Given the description of an element on the screen output the (x, y) to click on. 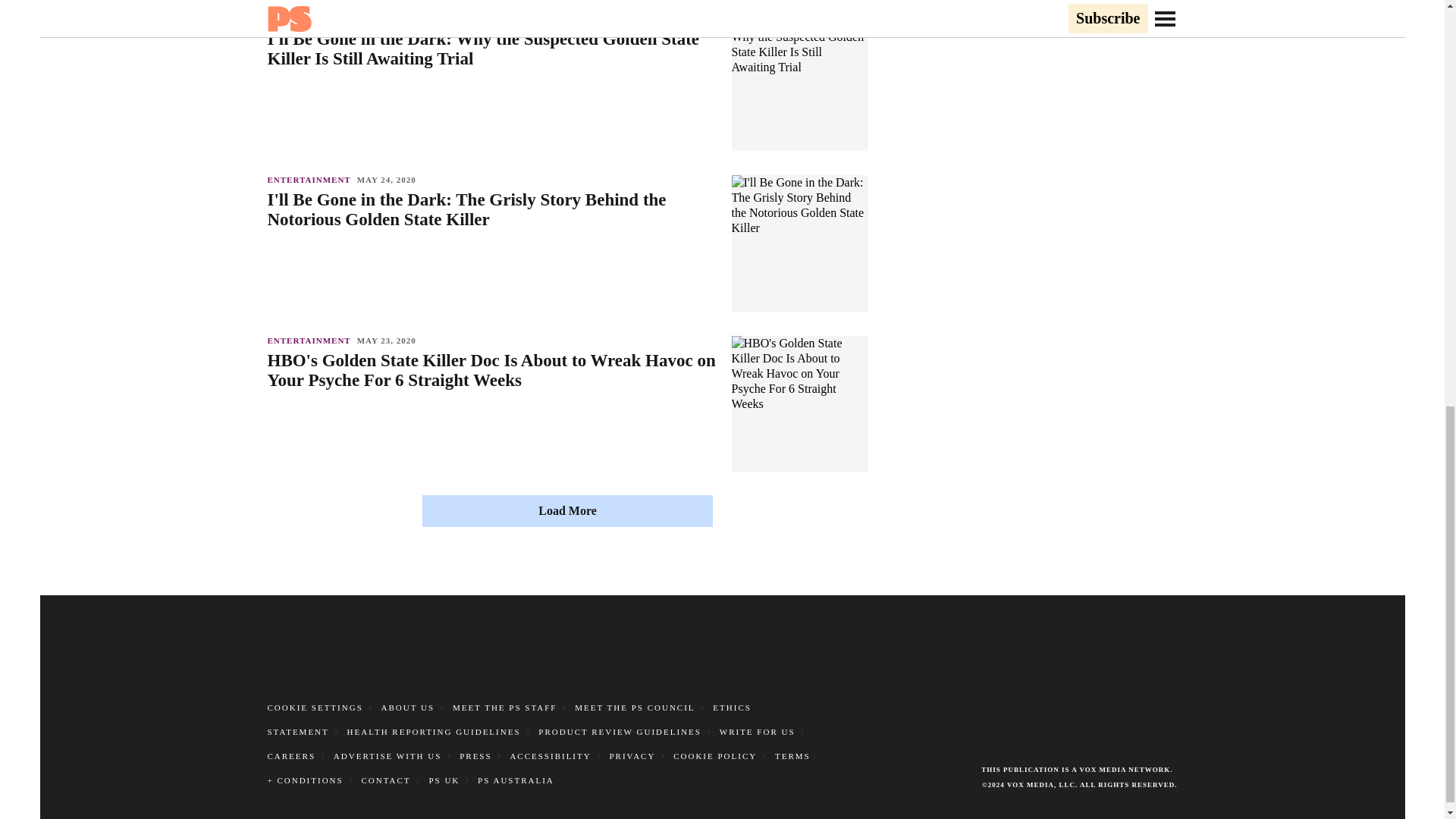
ENTERTAINMENT (311, 179)
PRODUCT REVIEW GUIDELINES (619, 731)
ENTERTAINMENT (311, 18)
HEALTH REPORTING GUIDELINES (434, 731)
ABOUT US (408, 707)
WRITE FOR US (756, 731)
ETHICS STATEMENT (508, 719)
MEET THE PS STAFF (504, 707)
ENTERTAINMENT (311, 339)
MEET THE PS COUNCIL (634, 707)
Load More (567, 511)
